Given the description of an element on the screen output the (x, y) to click on. 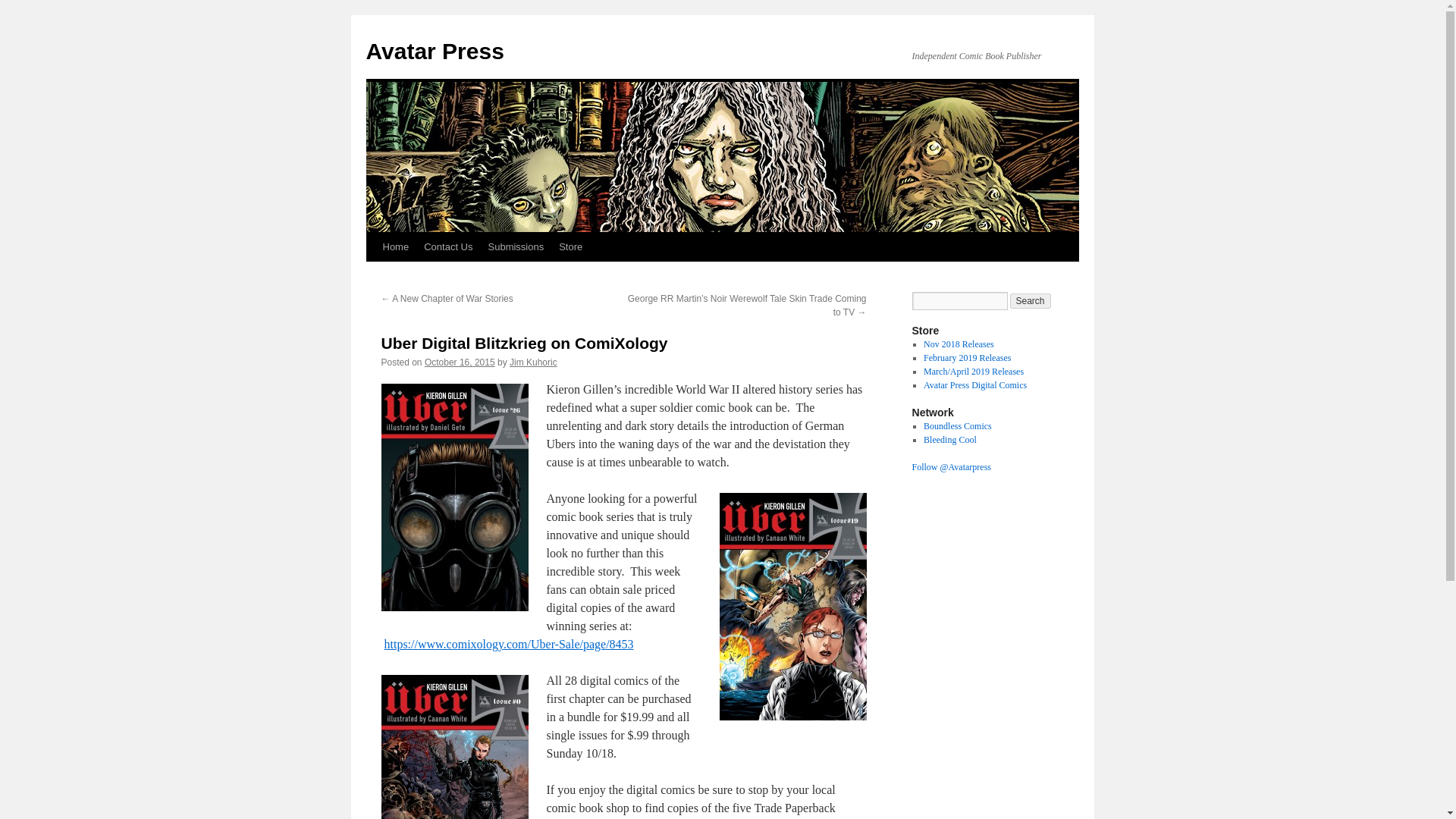
October 16, 2015 (460, 362)
View all posts by Jim Kuhoric (533, 362)
Bleeding Cool (949, 439)
Avatar Press (434, 50)
Search (1030, 300)
February 2019 Releases (966, 357)
Avatar Press (434, 50)
Search (1030, 300)
Home (395, 246)
Skip to content (372, 274)
Store (570, 246)
Nov 2018 Releases (958, 344)
Jim Kuhoric (533, 362)
Contact Us (448, 246)
Boundless Comics (957, 425)
